Given the description of an element on the screen output the (x, y) to click on. 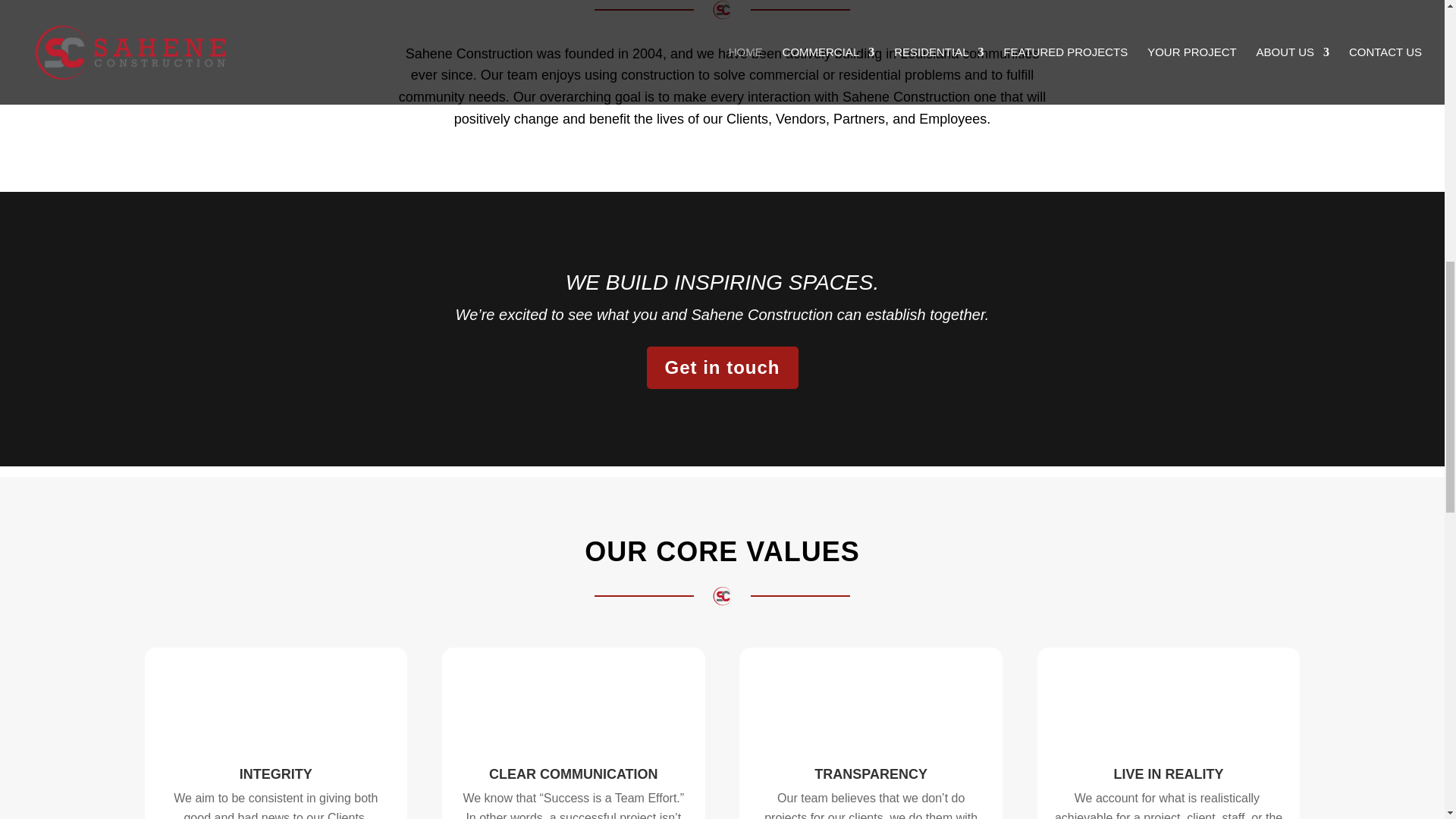
Get in touch (721, 367)
